Given the description of an element on the screen output the (x, y) to click on. 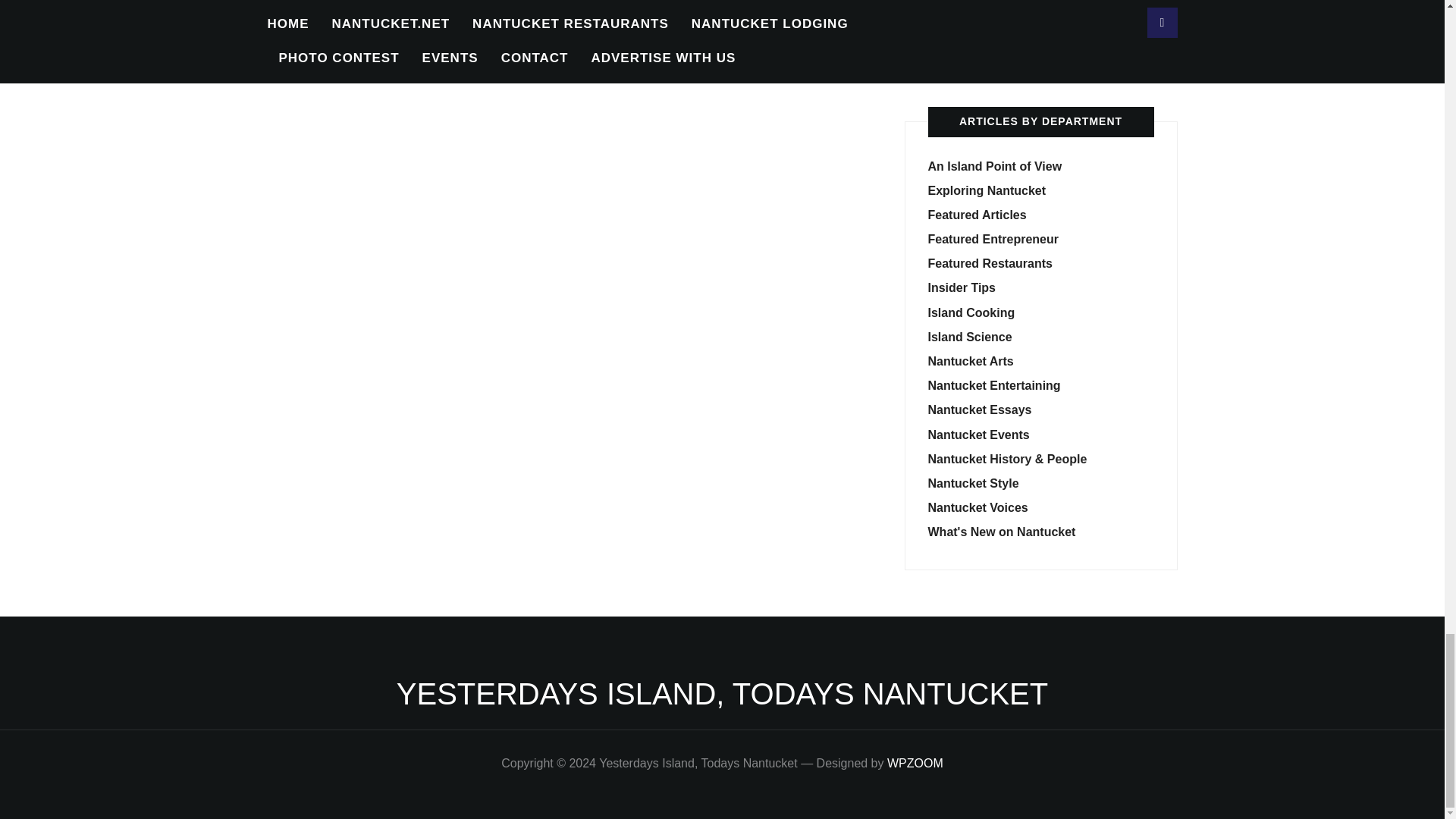
News and Events for Nantucket Island (722, 693)
